Given the description of an element on the screen output the (x, y) to click on. 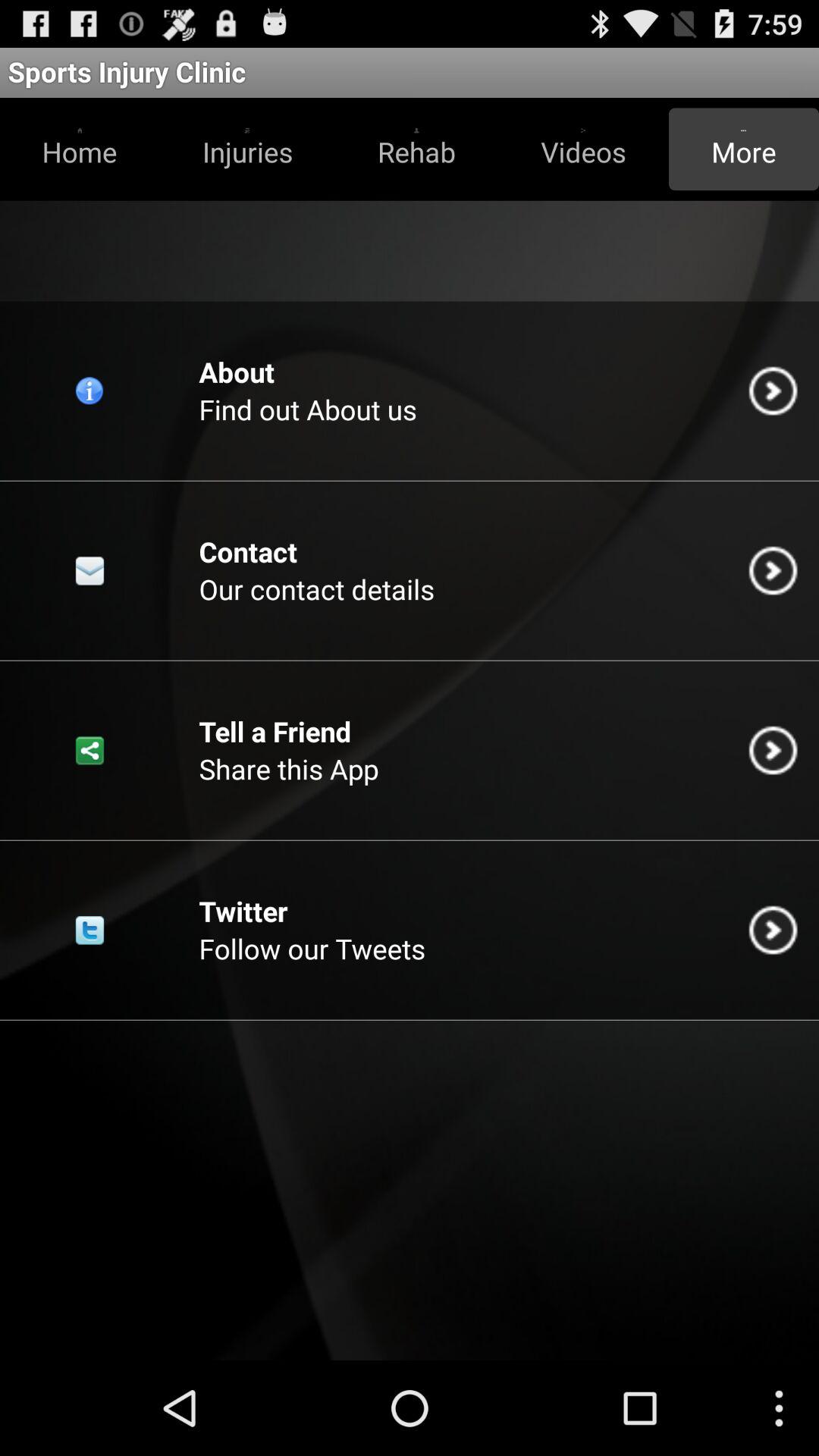
tap item above the find out about (416, 149)
